Given the description of an element on the screen output the (x, y) to click on. 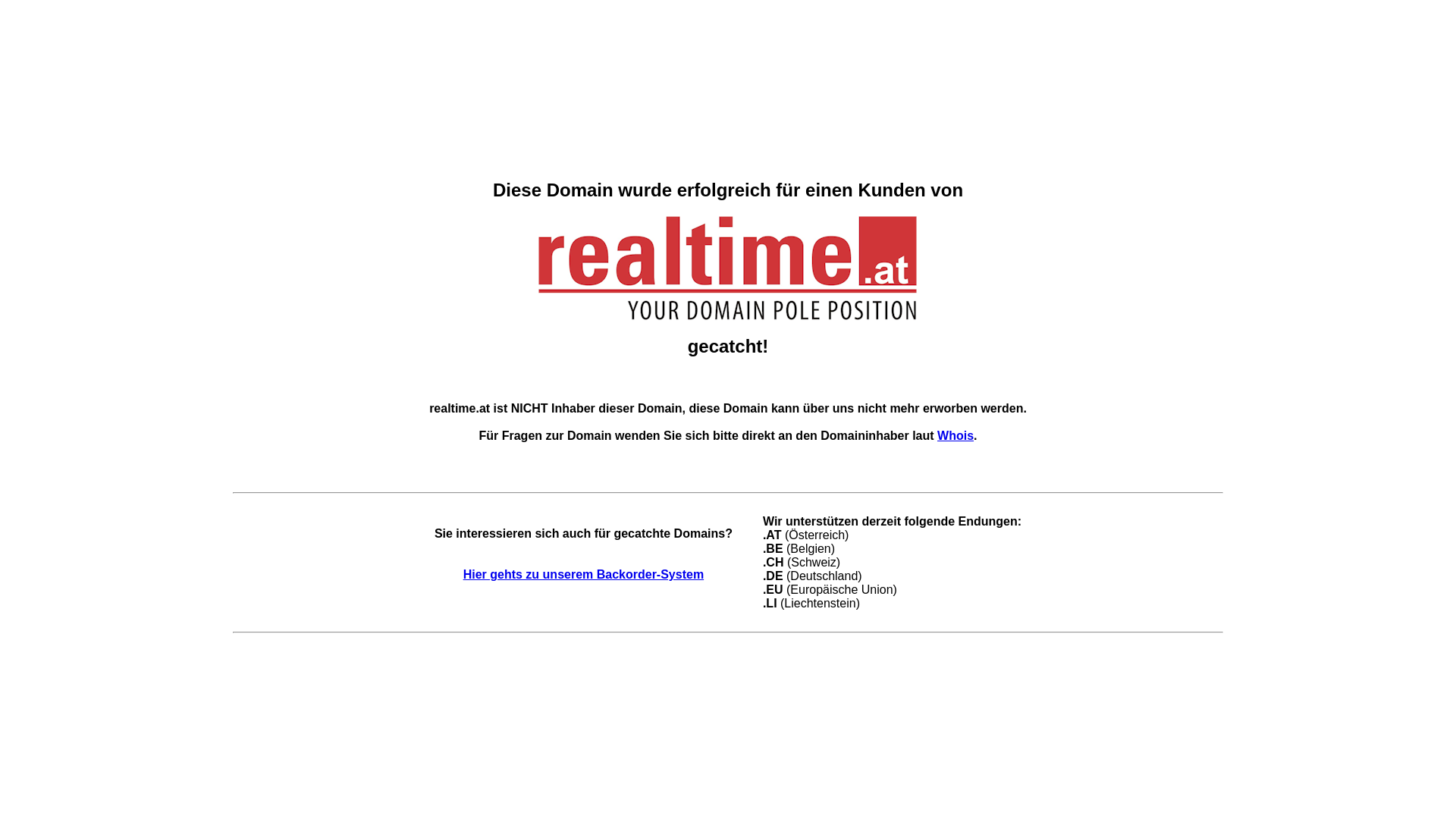
Whois Element type: text (955, 435)
Hier gehts zu unserem Backorder-System Element type: text (583, 573)
